Given the description of an element on the screen output the (x, y) to click on. 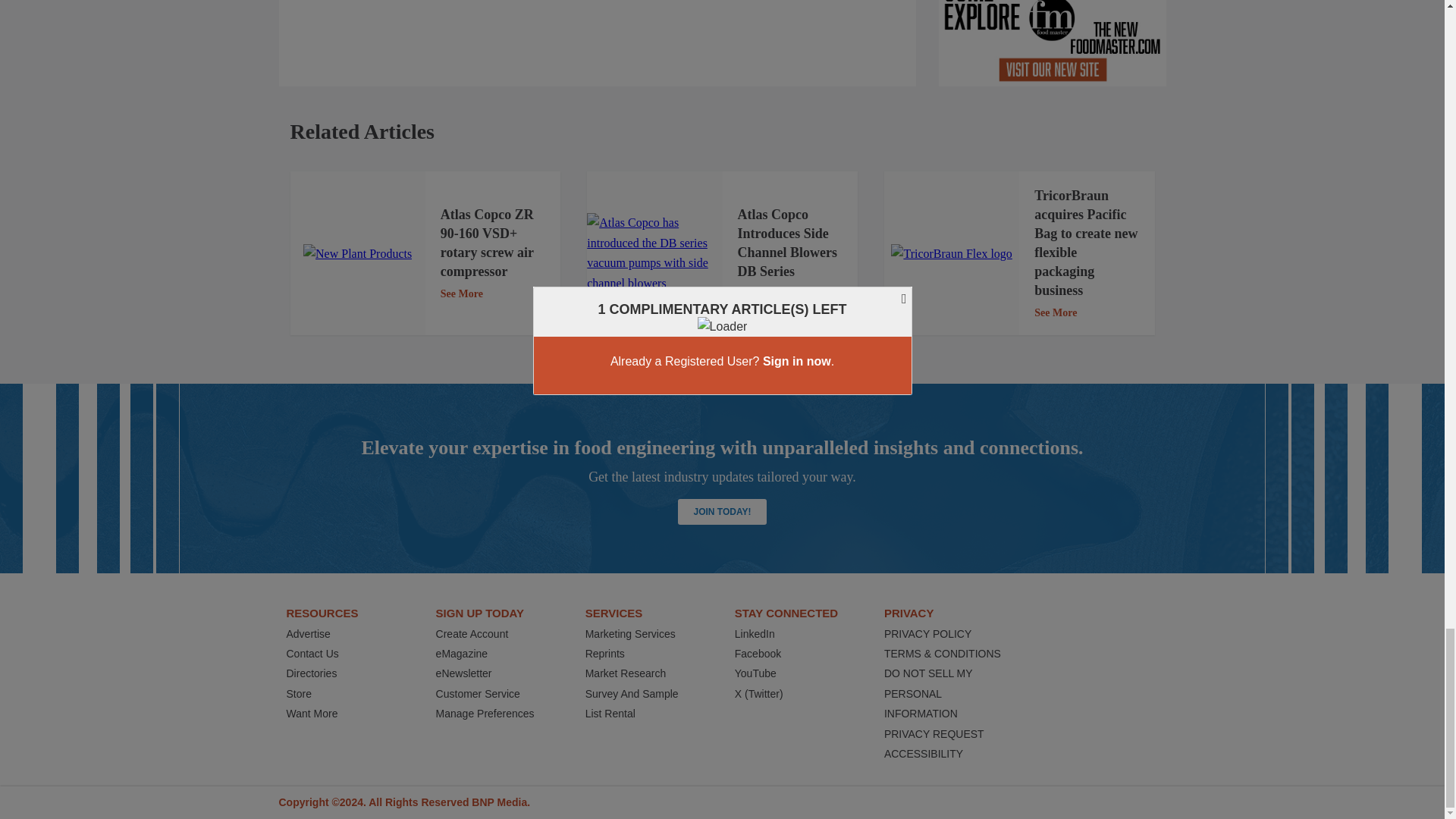
New Plant Products (357, 253)
TricorBraun-Flex-Logo.jpeg (951, 253)
Atlas Copco 1170x658.jpg (654, 252)
